Given the description of an element on the screen output the (x, y) to click on. 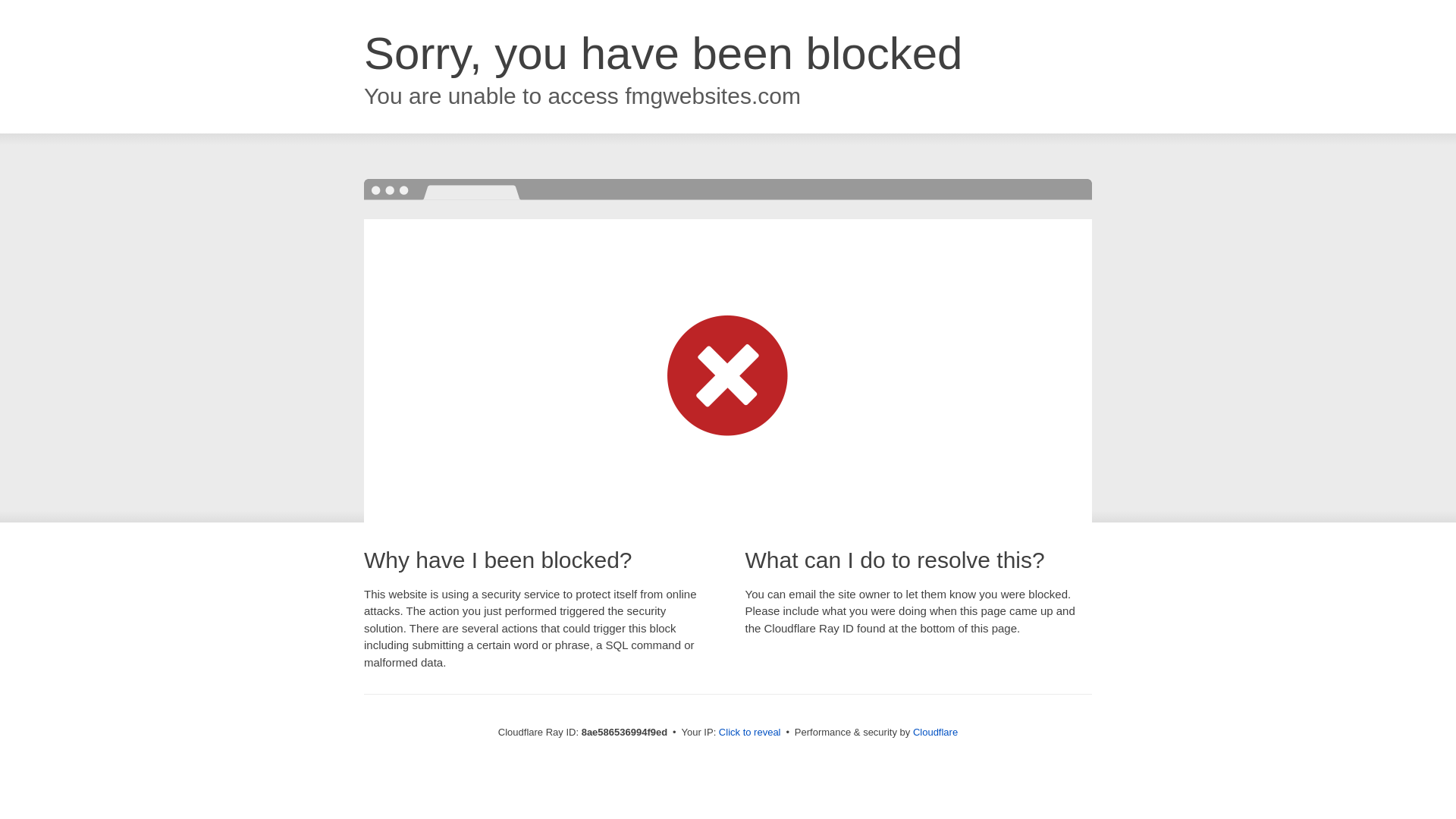
Cloudflare (935, 731)
Click to reveal (749, 732)
